Given the description of an element on the screen output the (x, y) to click on. 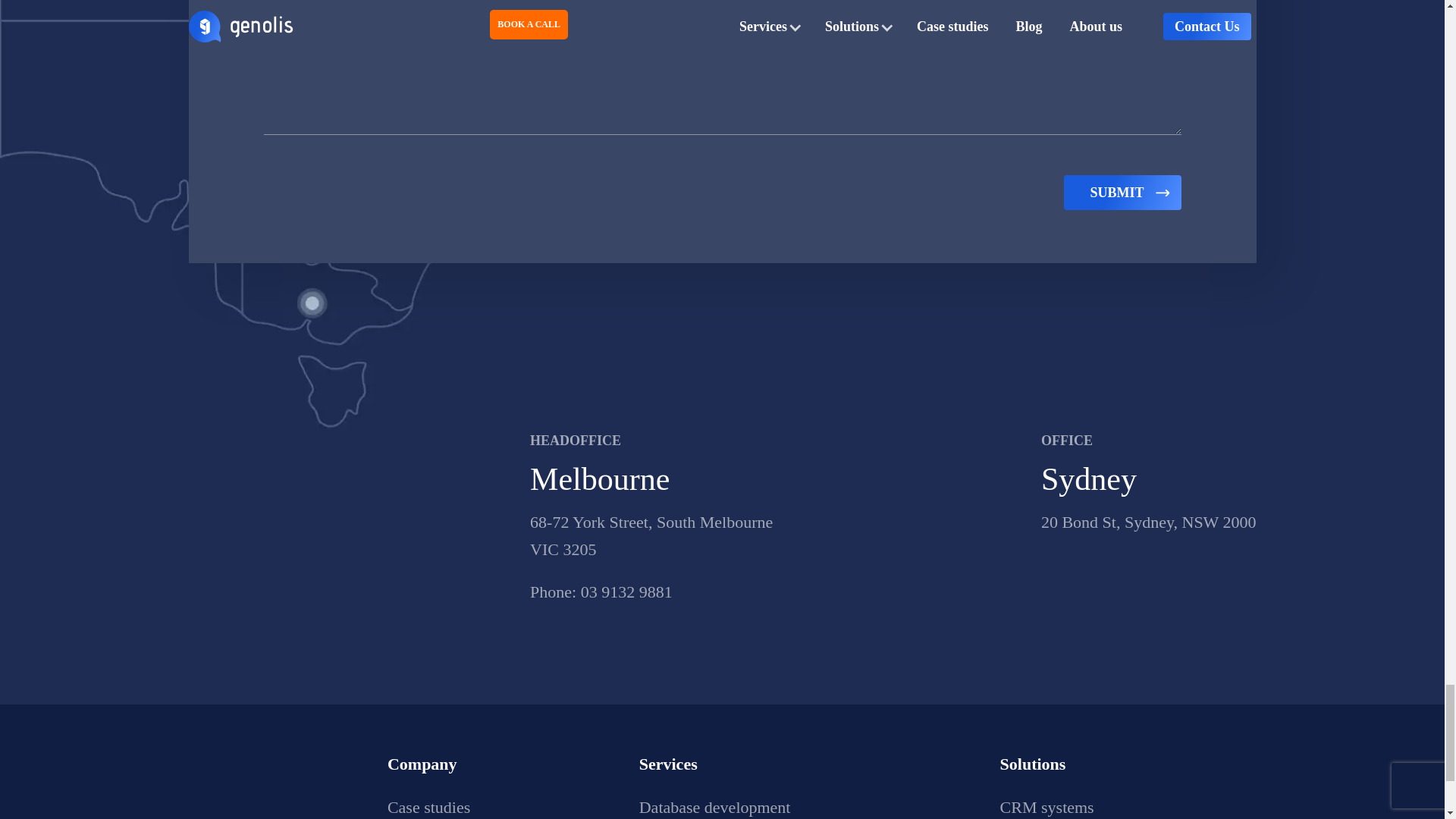
CRM systems (1047, 806)
SUBMIT (1121, 192)
SUBMIT (1121, 192)
Case studies (428, 806)
Database development (714, 806)
